Given the description of an element on the screen output the (x, y) to click on. 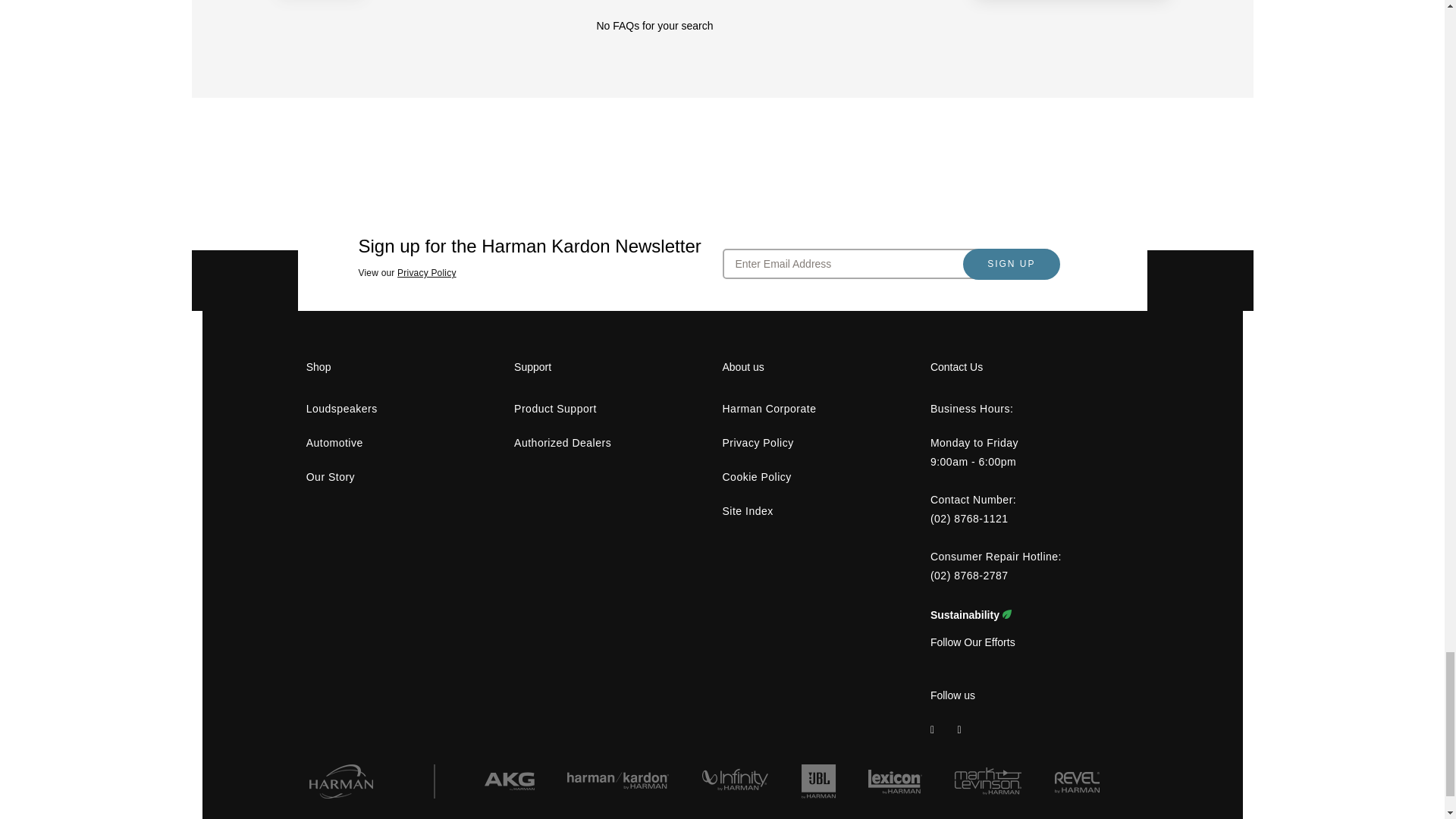
  Follow Our Efforts (972, 642)
